Given the description of an element on the screen output the (x, y) to click on. 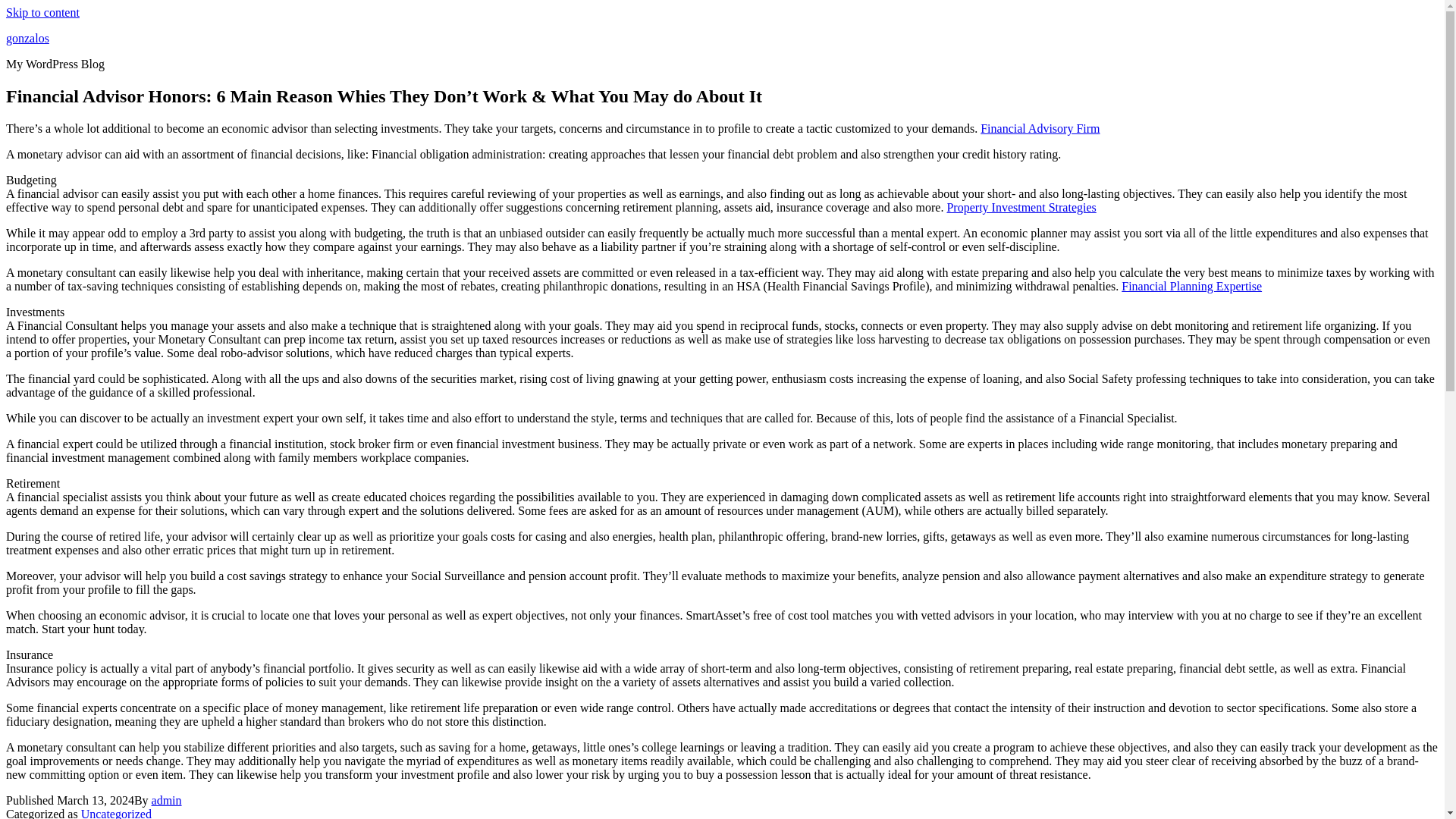
Uncategorized (116, 813)
Financial Advisory Firm (1039, 128)
admin (166, 799)
Property Investment Strategies (1021, 206)
Skip to content (42, 11)
gonzalos (27, 38)
Financial Planning Expertise (1191, 286)
